Given the description of an element on the screen output the (x, y) to click on. 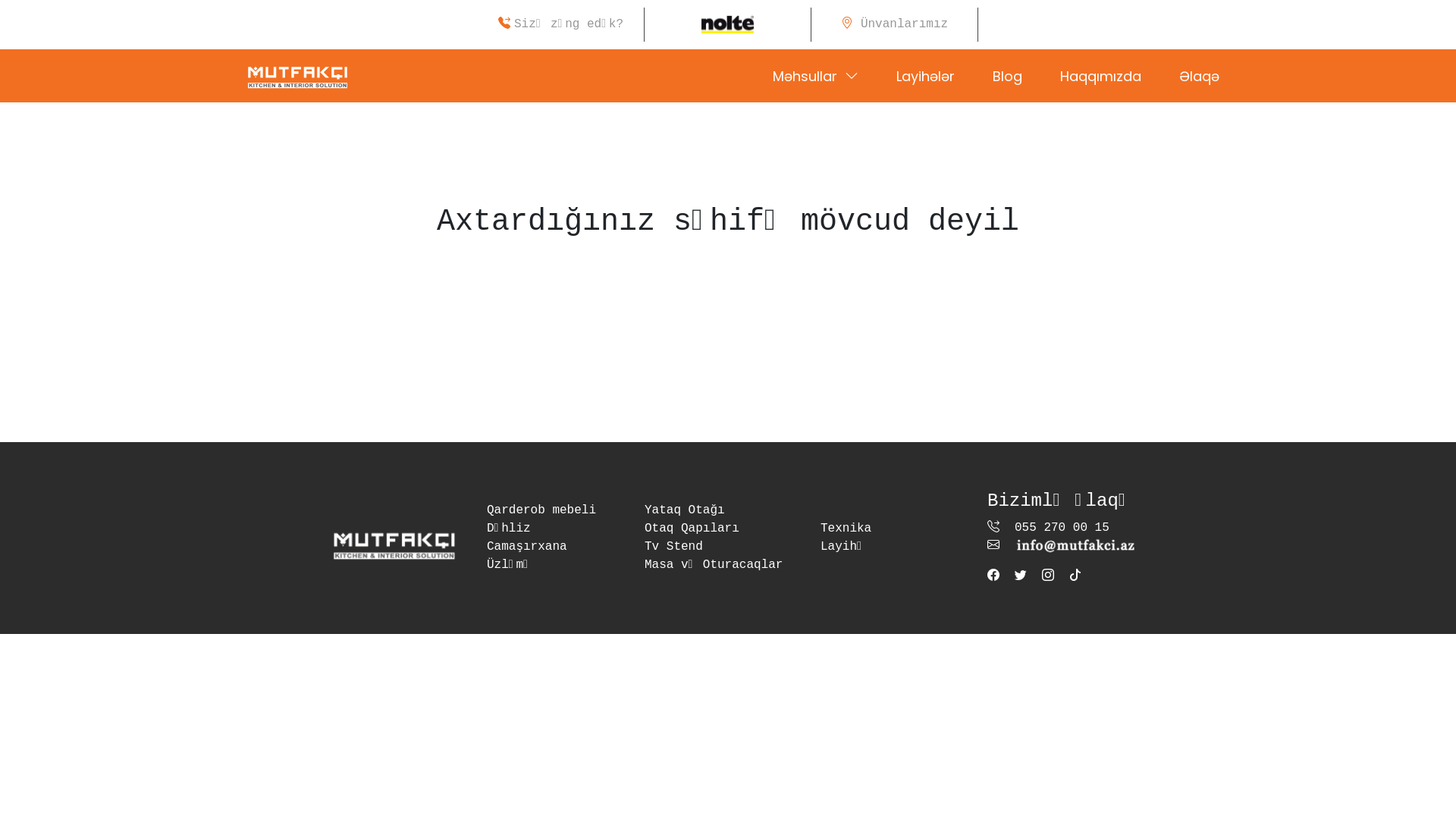
Texnika Element type: text (845, 528)
Blog Element type: text (1007, 75)
Qarderob mebeli Element type: text (541, 510)
Tv Stend Element type: text (673, 546)
